Given the description of an element on the screen output the (x, y) to click on. 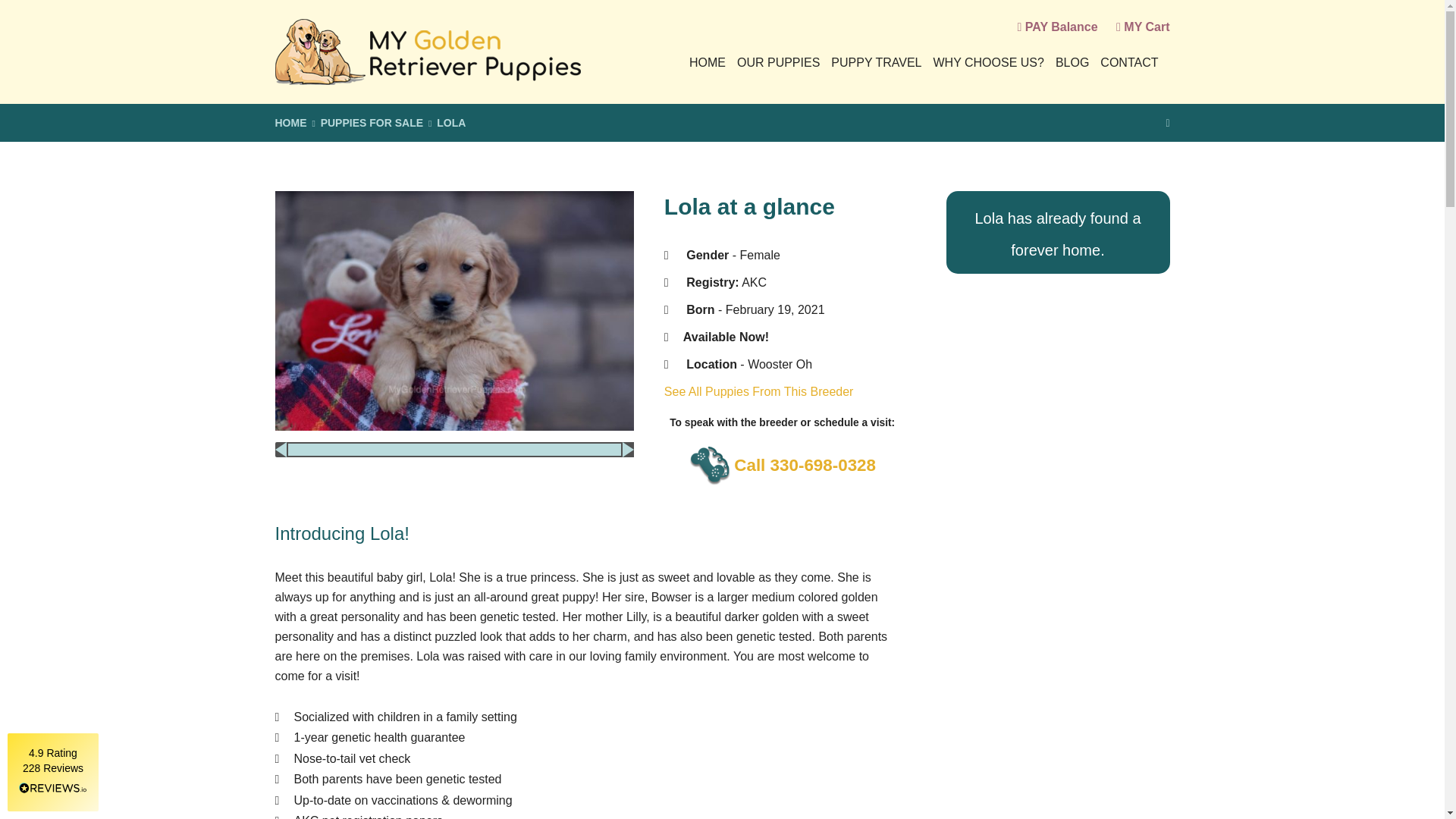
OUR PUPPIES (777, 62)
PAY Balance (1057, 26)
See All Puppies From This Breeder (758, 391)
MY Cart (1142, 26)
BLOG (1072, 62)
PUPPIES FOR SALE (371, 122)
HOME (706, 62)
LOLA (450, 122)
REVIEWS.io (52, 787)
PUPPY TRAVEL (876, 62)
WHY CHOOSE US? (988, 62)
CONTACT (1128, 62)
Call 330-698-0328 (782, 465)
HOME (290, 122)
Lola (454, 310)
